Given the description of an element on the screen output the (x, y) to click on. 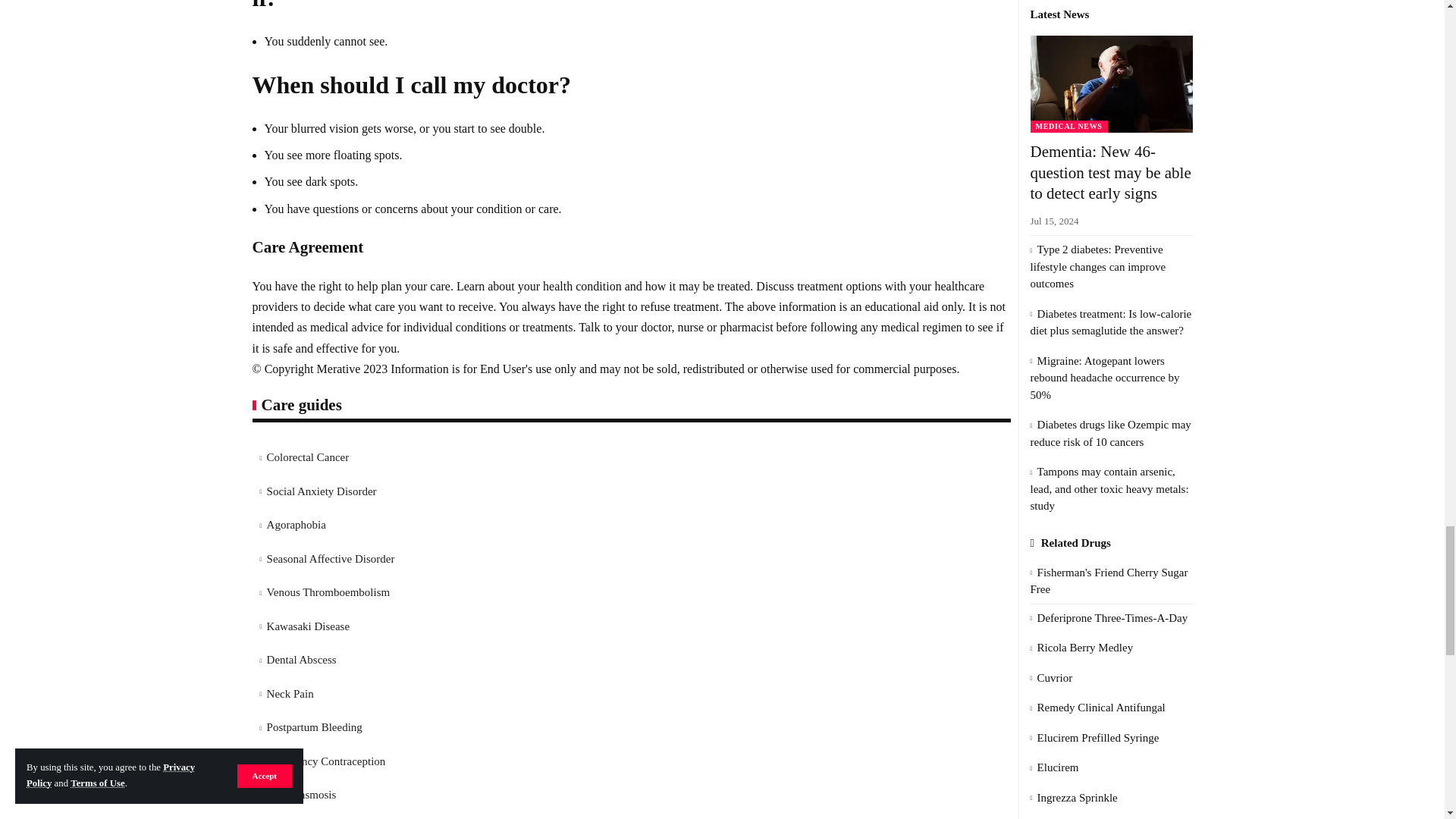
Colorectal Cancer (307, 457)
Social Anxiety Disorder (321, 491)
